Given the description of an element on the screen output the (x, y) to click on. 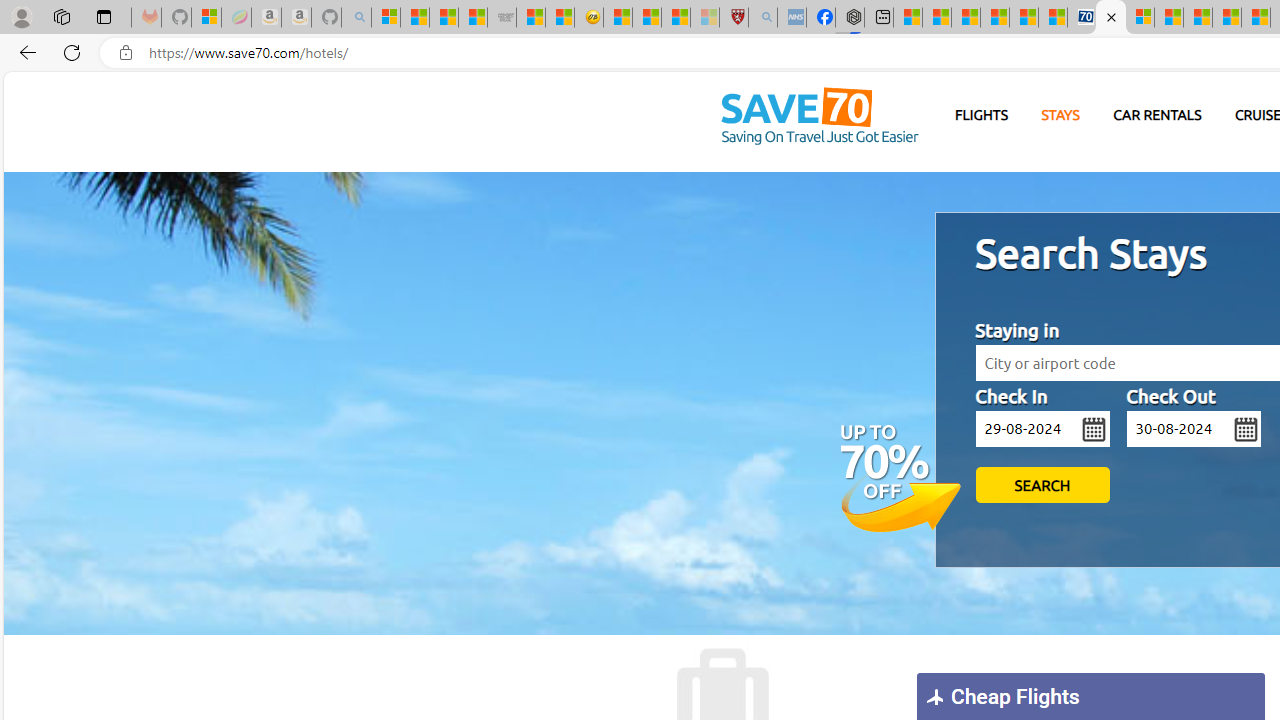
FLIGHTS (981, 115)
12 Popular Science Lies that Must be Corrected - Sleeping (705, 17)
CAR RENTALS (1157, 115)
CAR RENTALS (1157, 115)
